Given the description of an element on the screen output the (x, y) to click on. 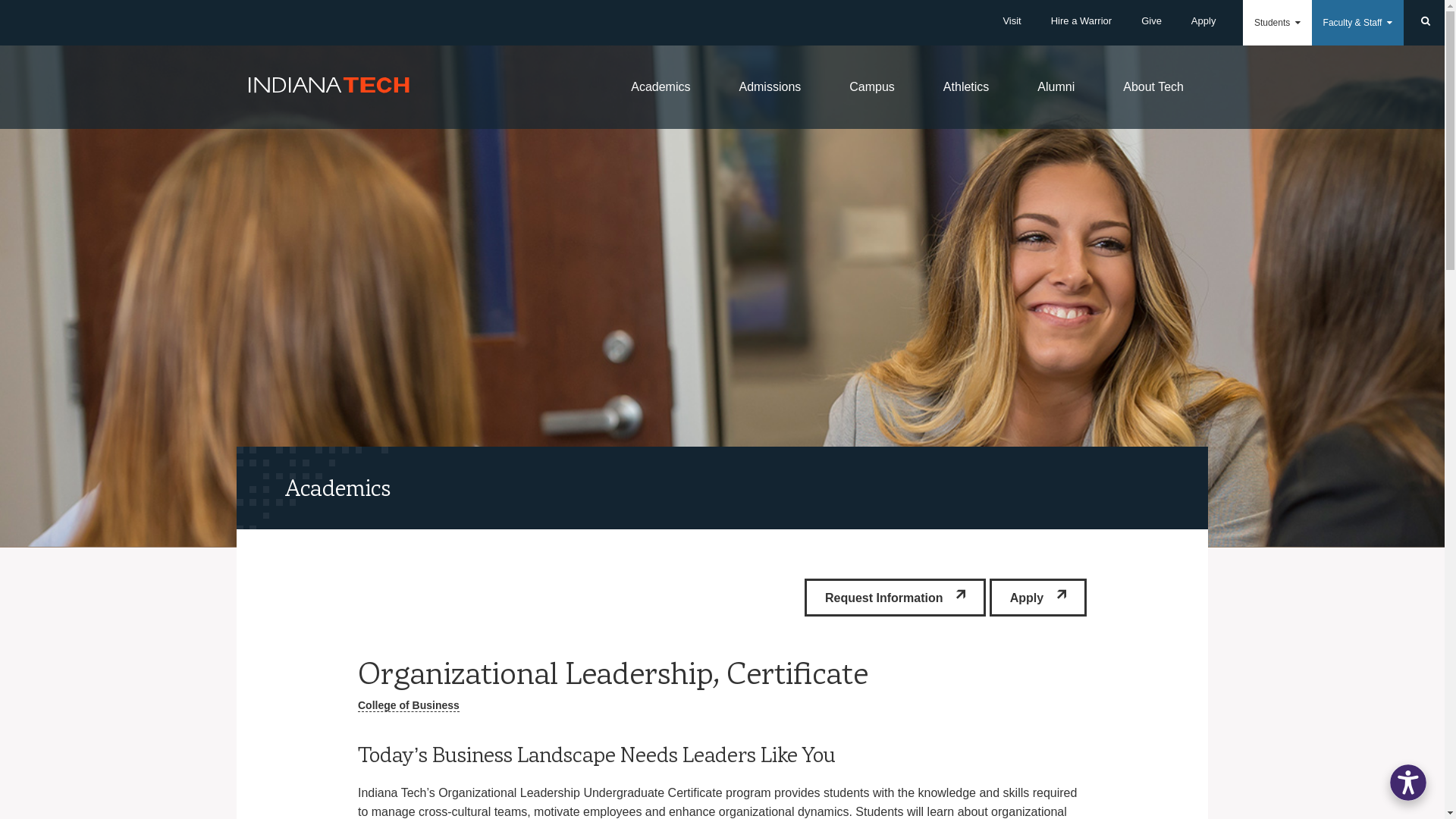
site header (721, 487)
